Given the description of an element on the screen output the (x, y) to click on. 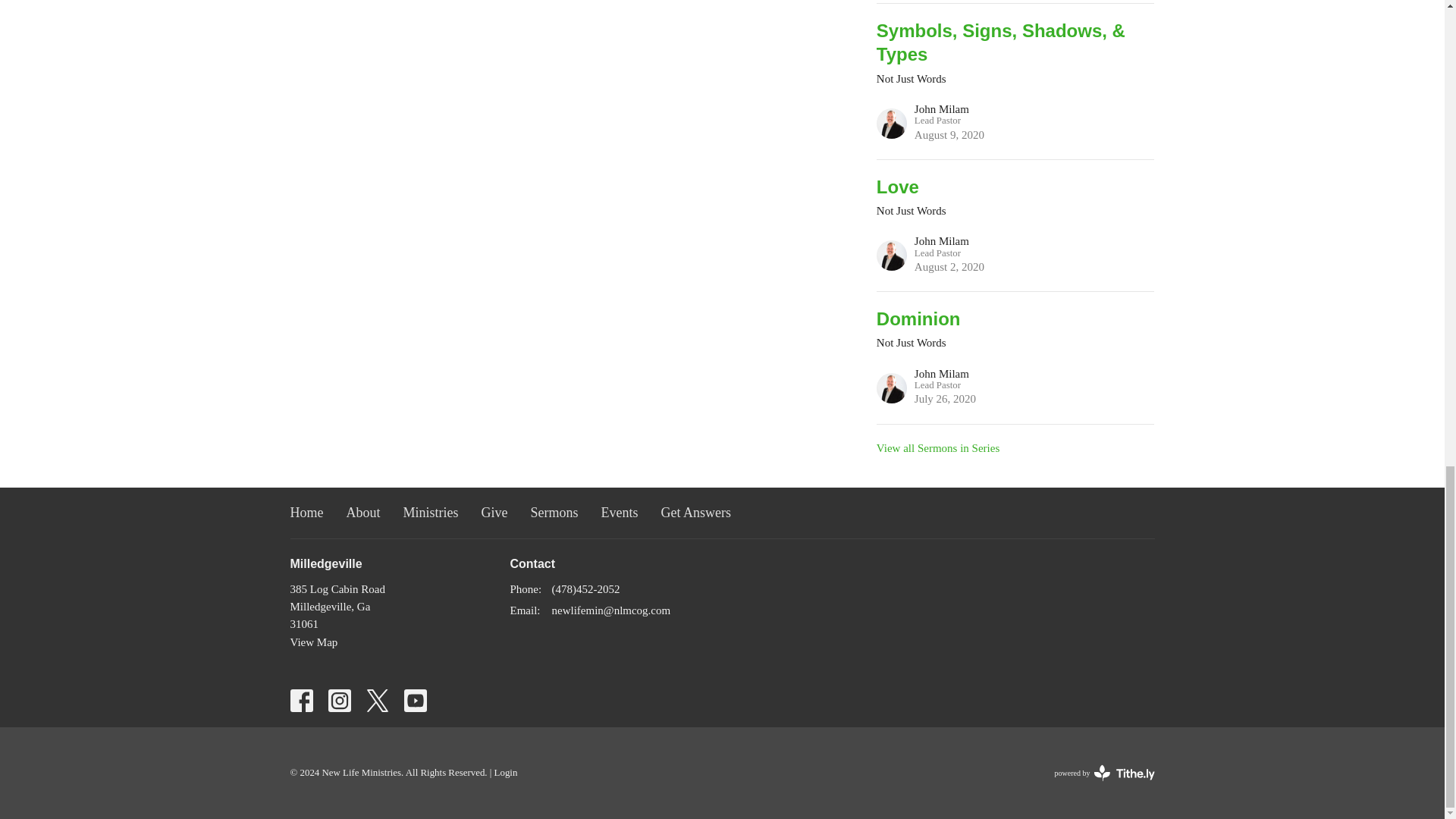
Love (1015, 187)
Sermons (554, 513)
Dominion (1015, 318)
Get Answers (696, 513)
View all Sermons in Series (1015, 225)
Events (937, 448)
View Map (620, 513)
About (313, 642)
Give (363, 513)
Ministries (494, 513)
Home (430, 513)
translation missing: en.ui.email (1015, 357)
